Given the description of an element on the screen output the (x, y) to click on. 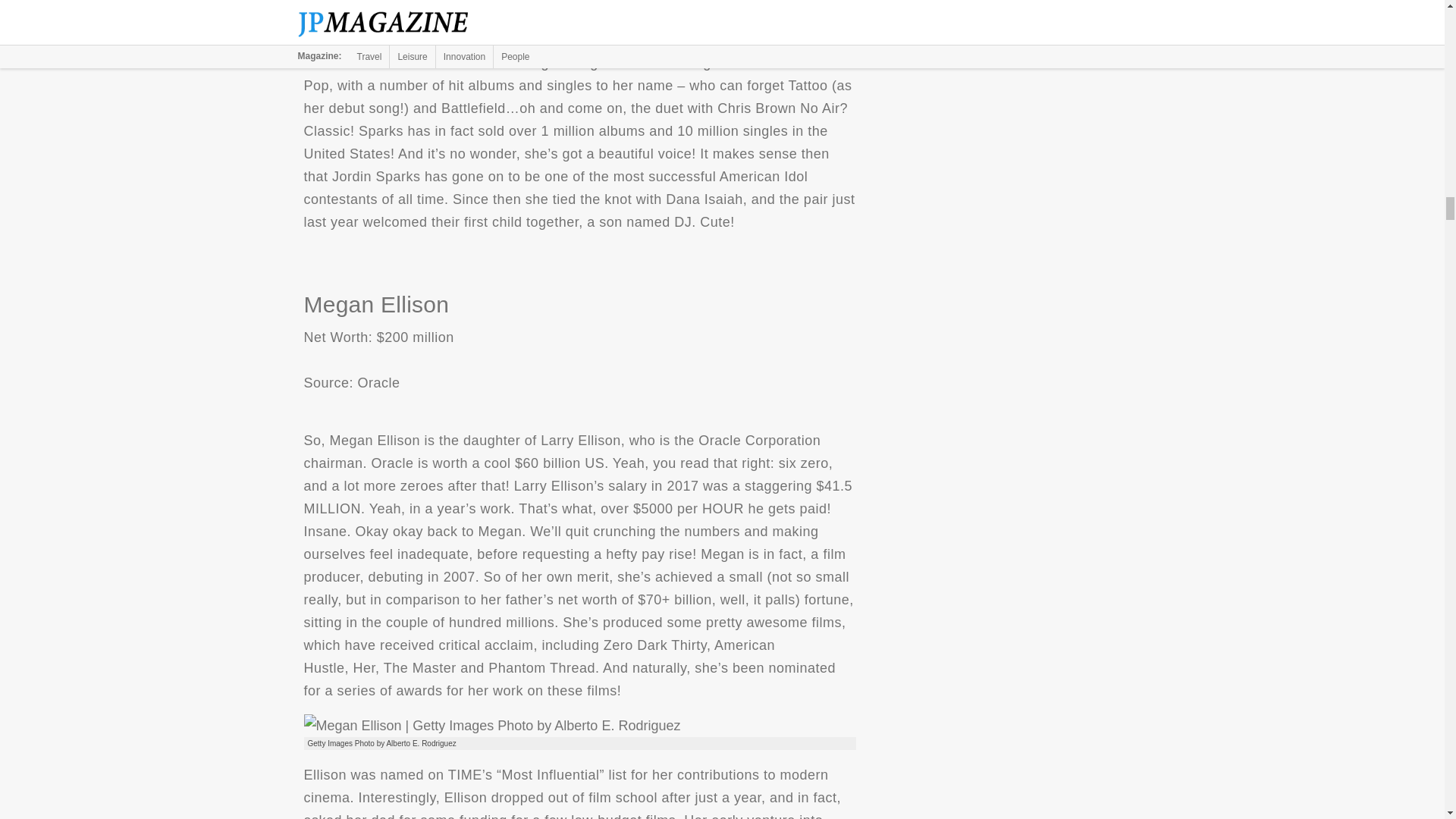
Megan Ellison (490, 725)
